Given the description of an element on the screen output the (x, y) to click on. 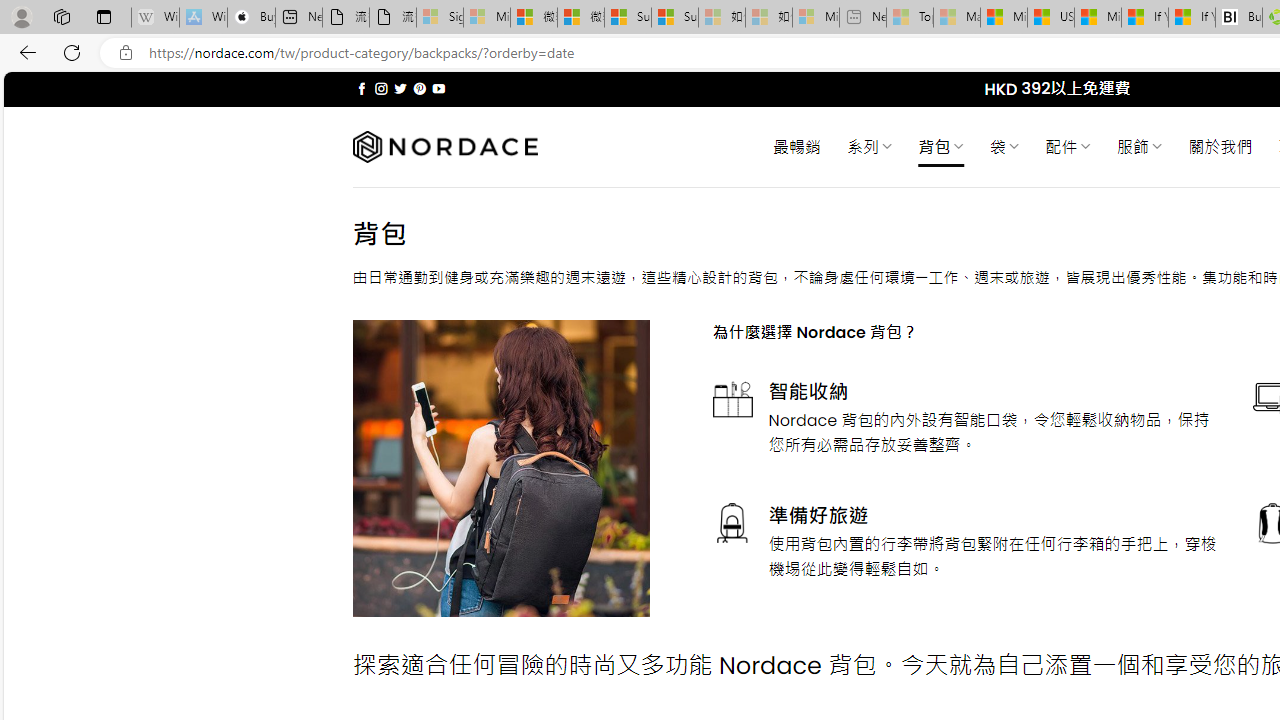
US Heat Deaths Soared To Record High Last Year (1050, 17)
